Given the description of an element on the screen output the (x, y) to click on. 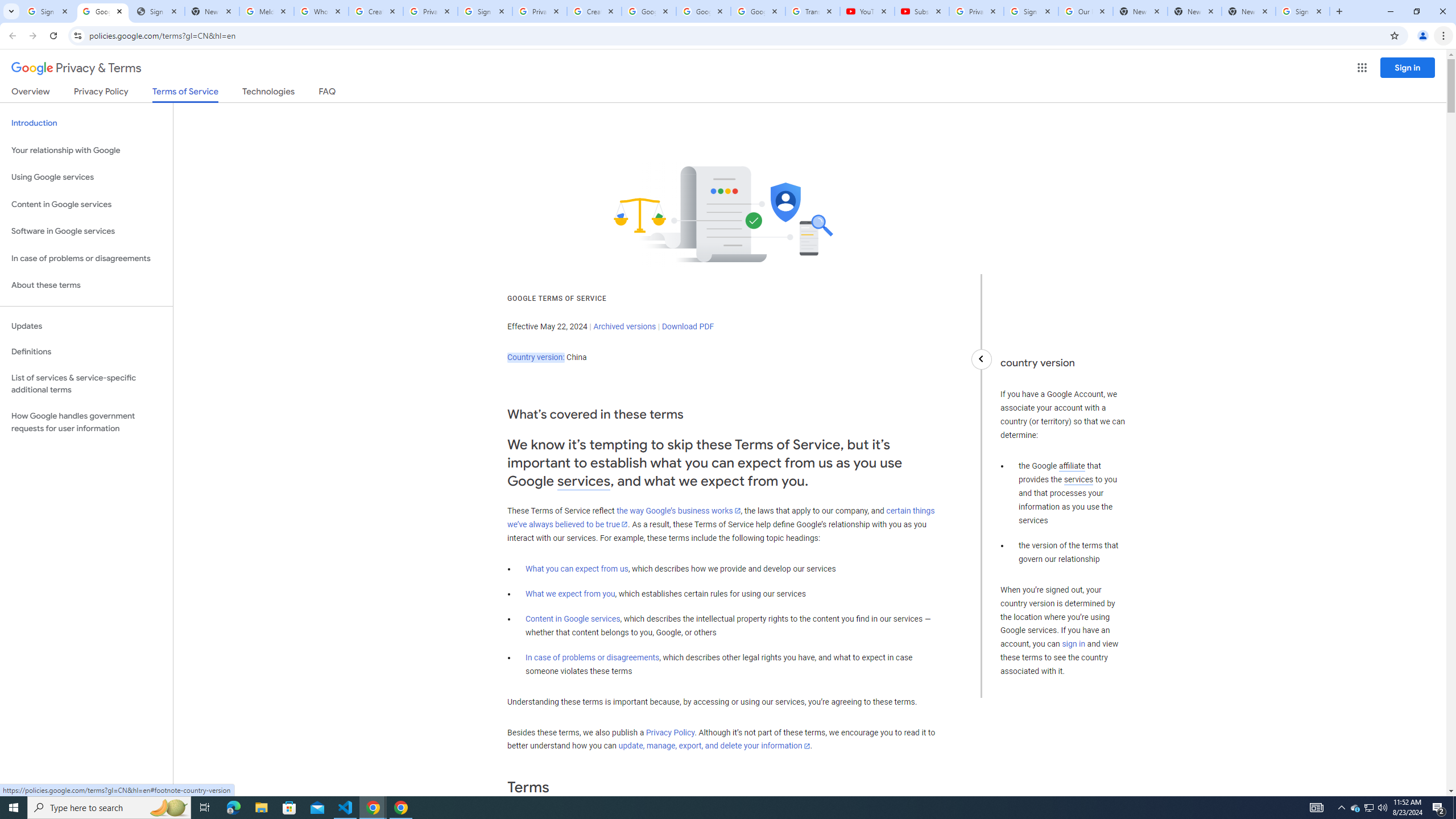
affiliate (1071, 465)
sign in (1073, 644)
Who is my administrator? - Google Account Help (320, 11)
What you can expect from us (576, 568)
How Google handles government requests for user information (86, 422)
List of services & service-specific additional terms (86, 383)
What we expect from you (570, 593)
Download PDF (687, 326)
Introduction (86, 122)
